Given the description of an element on the screen output the (x, y) to click on. 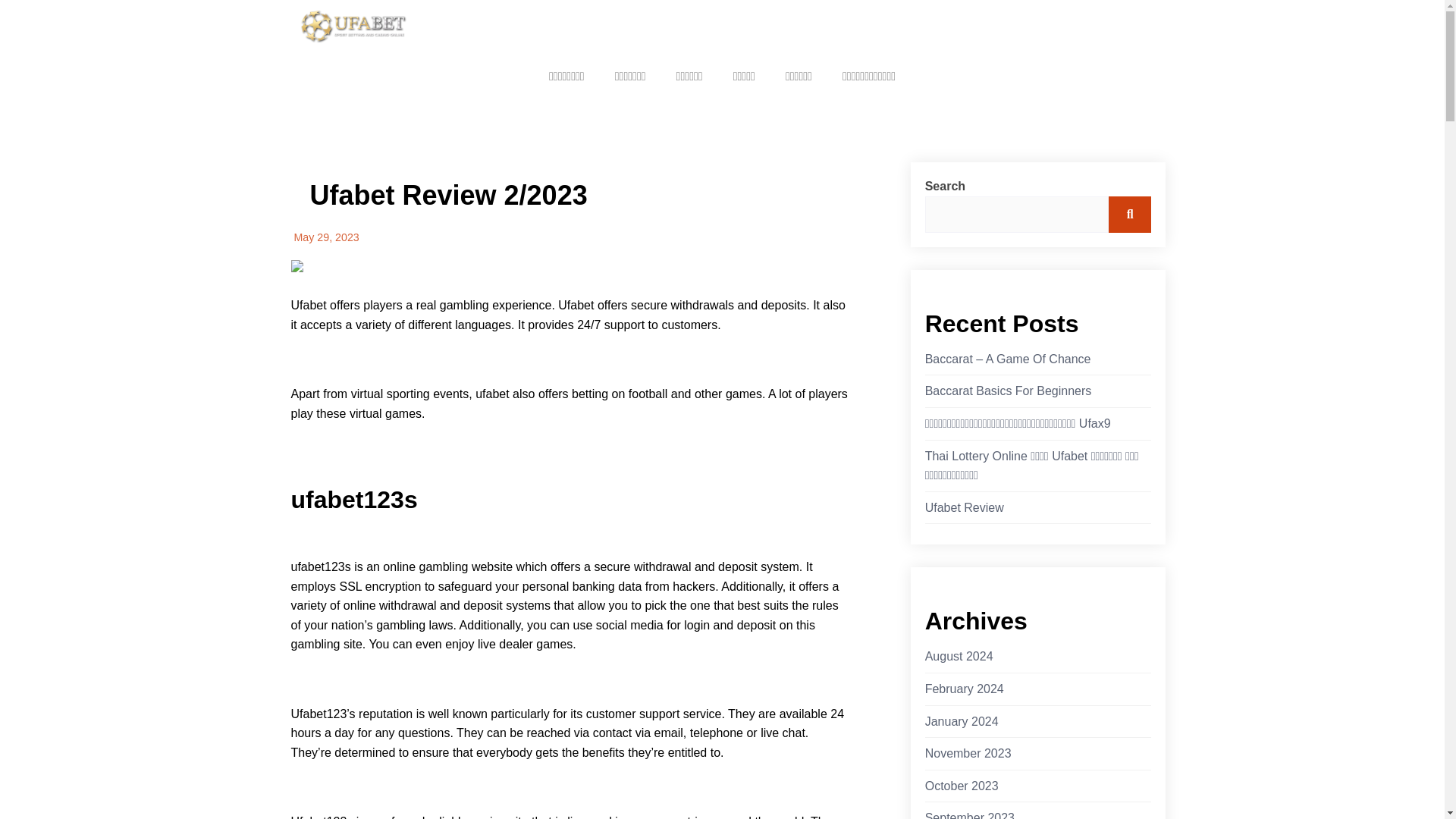
October 2023 (961, 786)
Search (1129, 214)
September 2023 (969, 813)
August 2024 (958, 656)
Ufabet Review (964, 507)
Baccarat Basics For Beginners (1008, 391)
November 2023 (967, 753)
January 2024 (961, 721)
May 29, 2023 (326, 236)
February 2024 (964, 689)
